Given the description of an element on the screen output the (x, y) to click on. 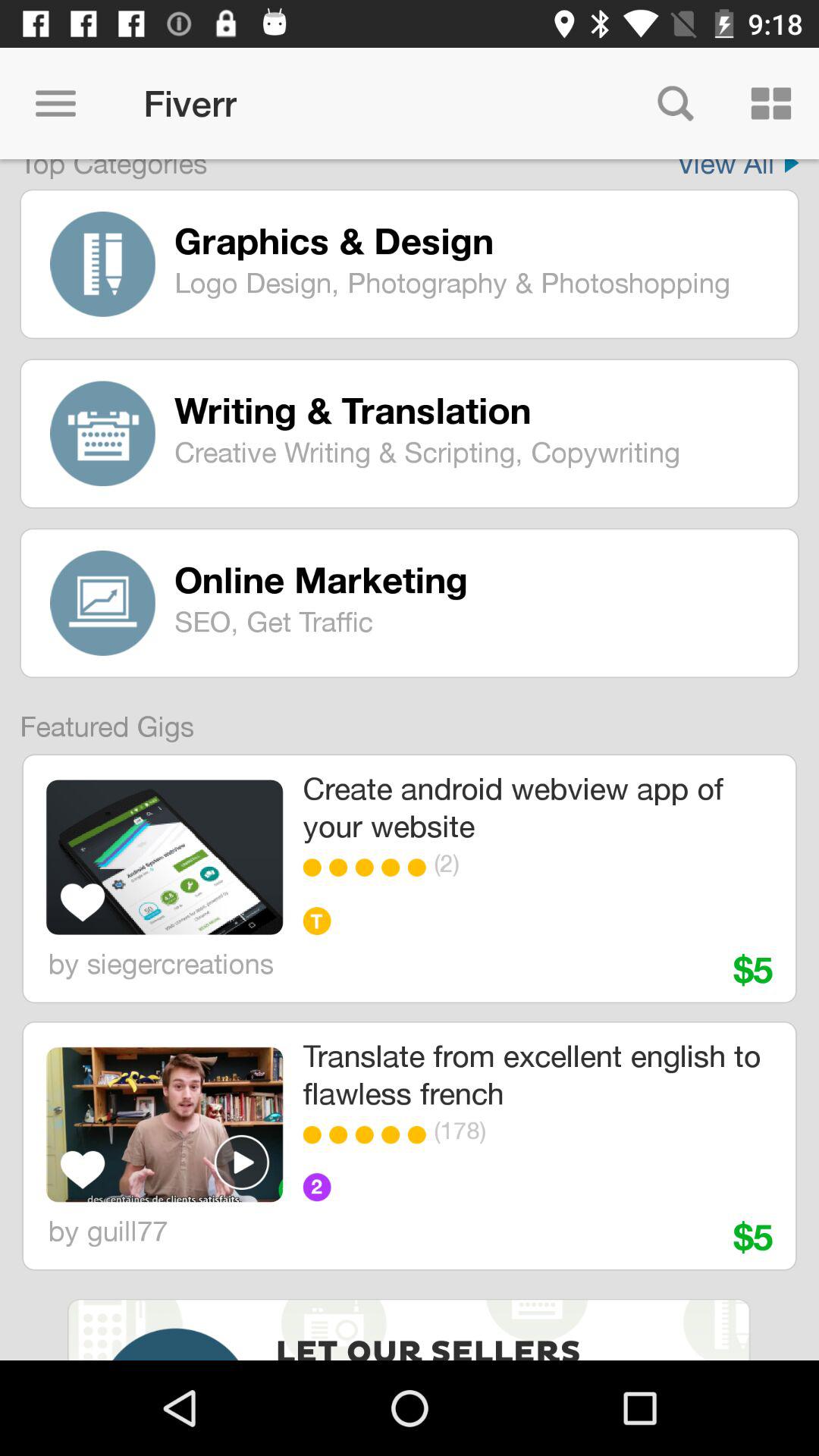
click icon above the $5 item (579, 1130)
